Given the description of an element on the screen output the (x, y) to click on. 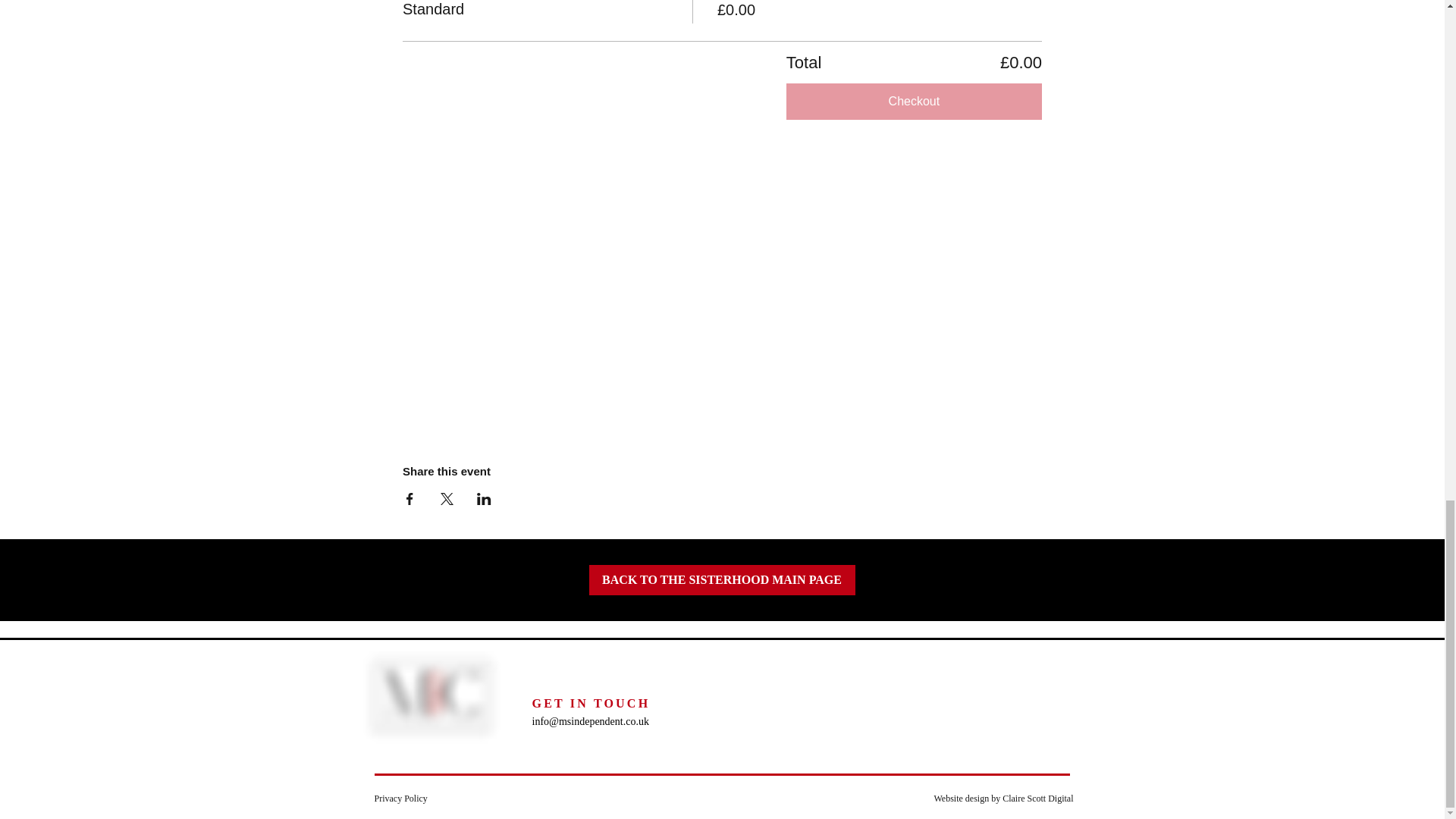
Privacy Policy (401, 798)
Website design by Claire Scott Digital (1003, 798)
Checkout (914, 101)
BACK TO THE SISTERHOOD MAIN PAGE (721, 580)
